Given the description of an element on the screen output the (x, y) to click on. 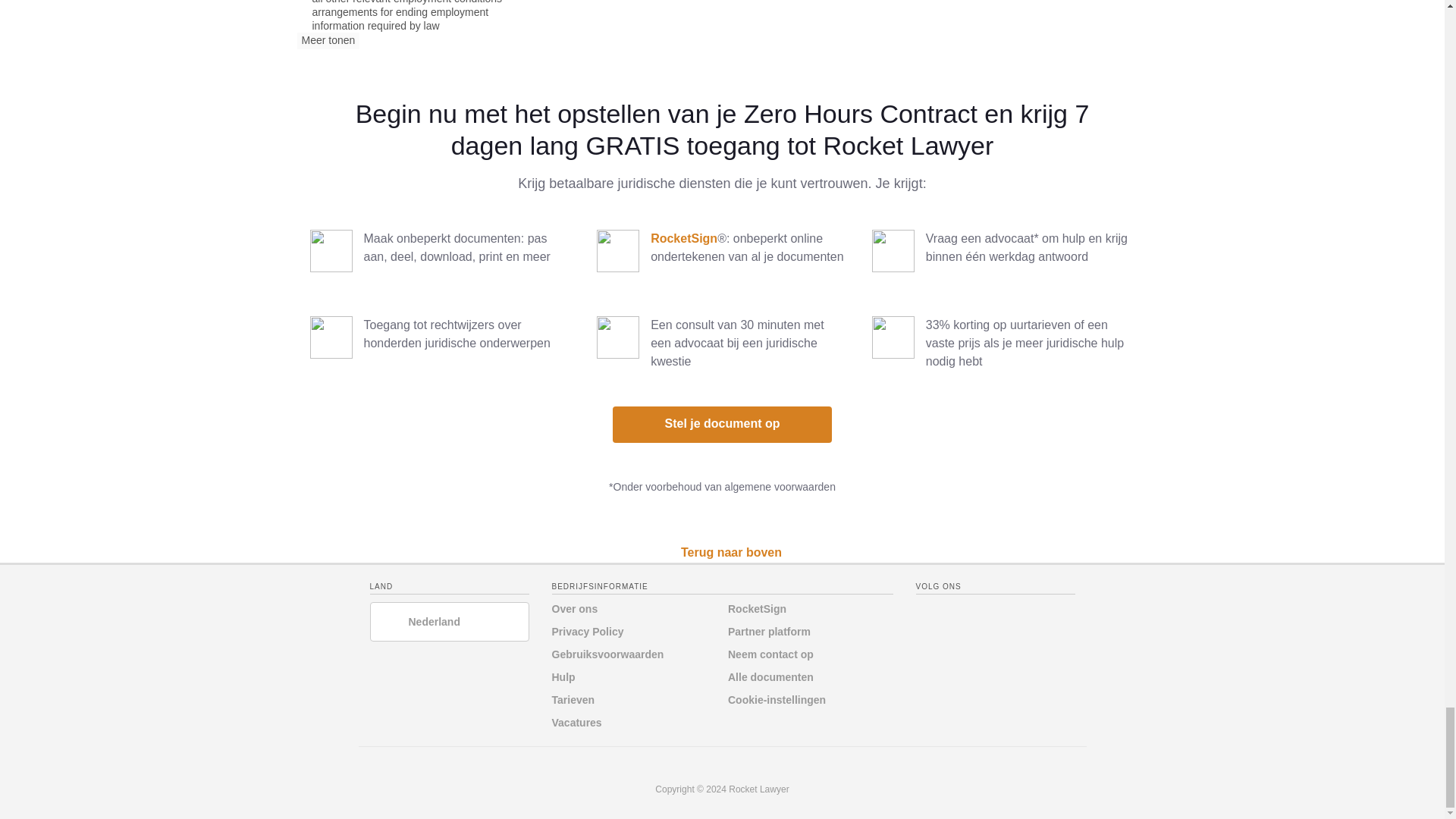
twitter (927, 612)
facebook (987, 612)
linkedin (957, 612)
